Given the description of an element on the screen output the (x, y) to click on. 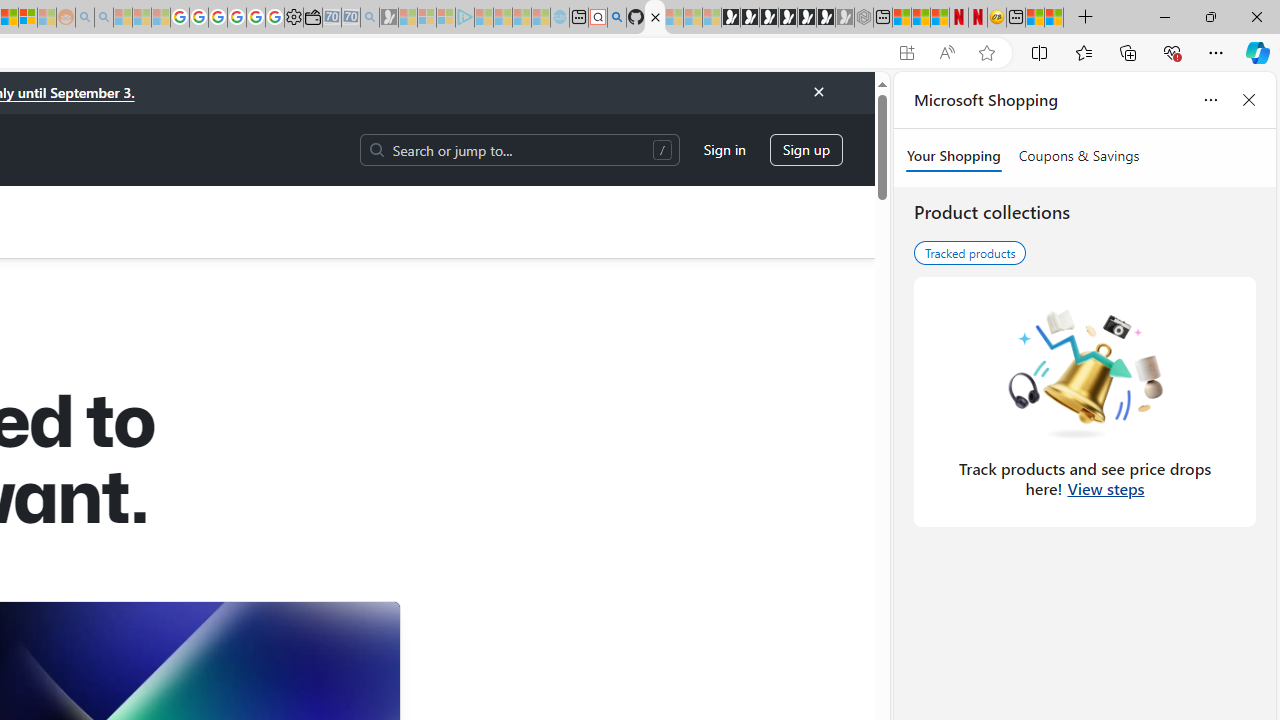
Sign up (806, 149)
